Given the description of an element on the screen output the (x, y) to click on. 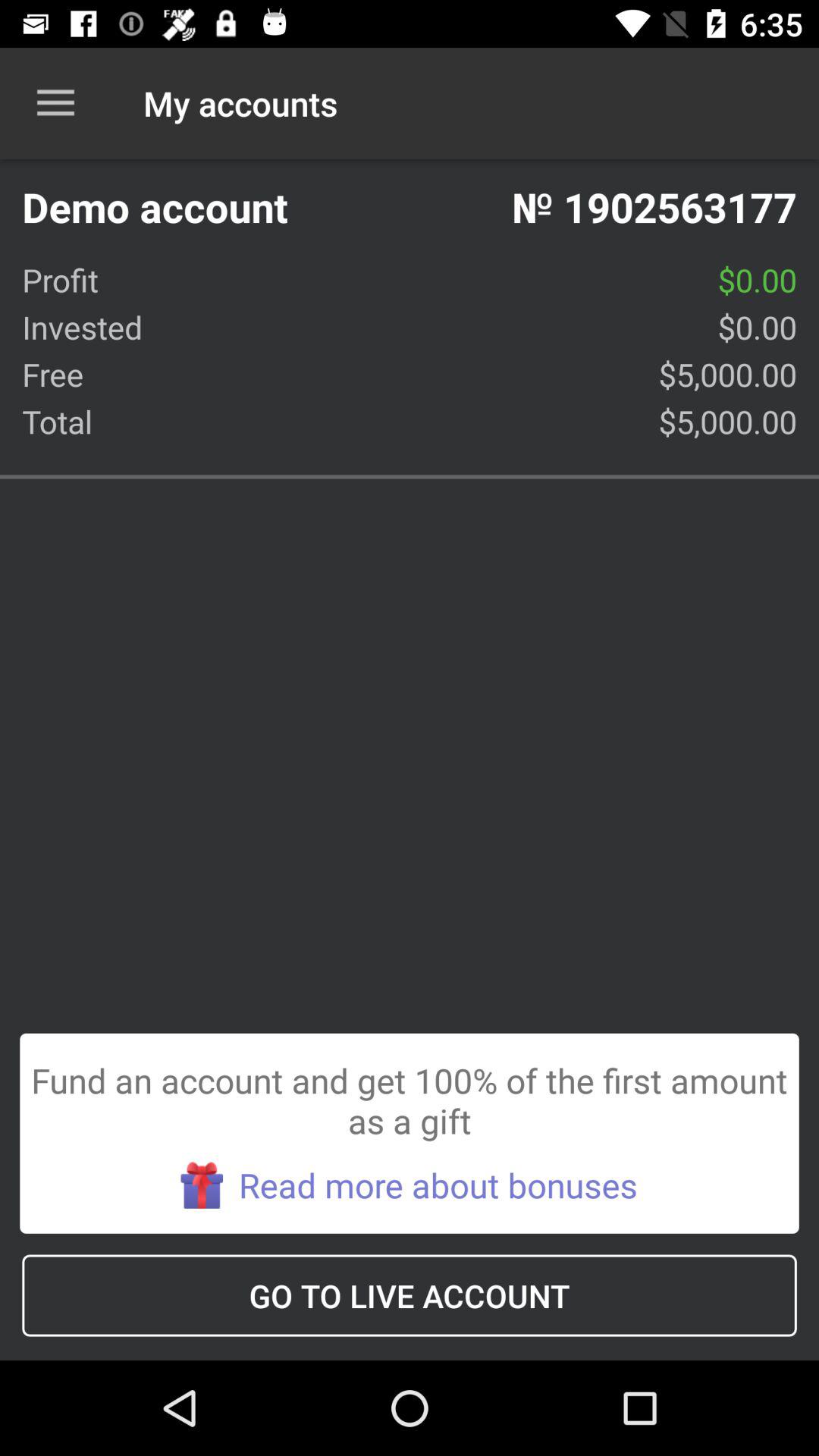
turn on the app next to my accounts icon (55, 103)
